Given the description of an element on the screen output the (x, y) to click on. 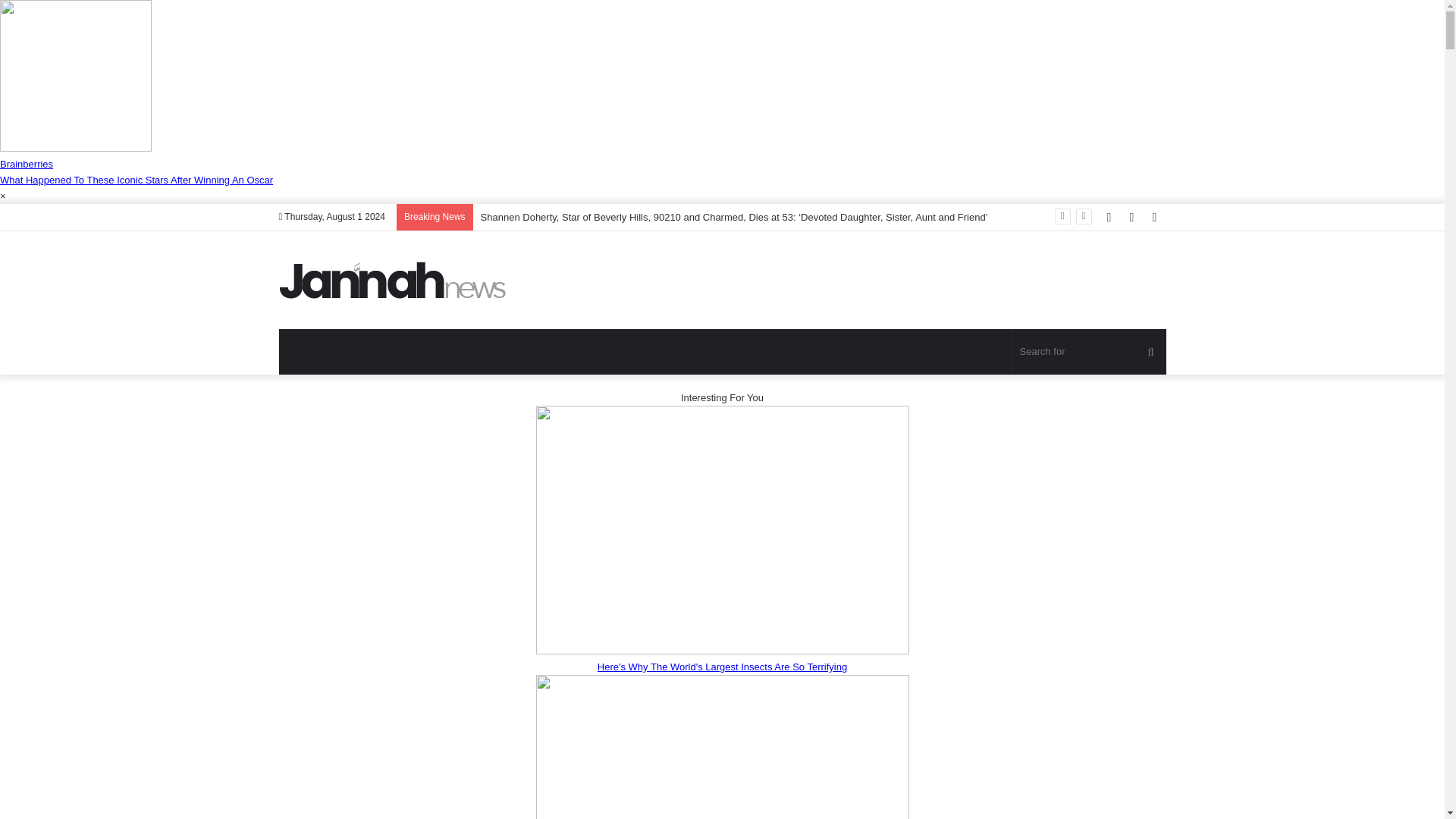
Search for (1088, 351)
Movie News (392, 279)
